Given the description of an element on the screen output the (x, y) to click on. 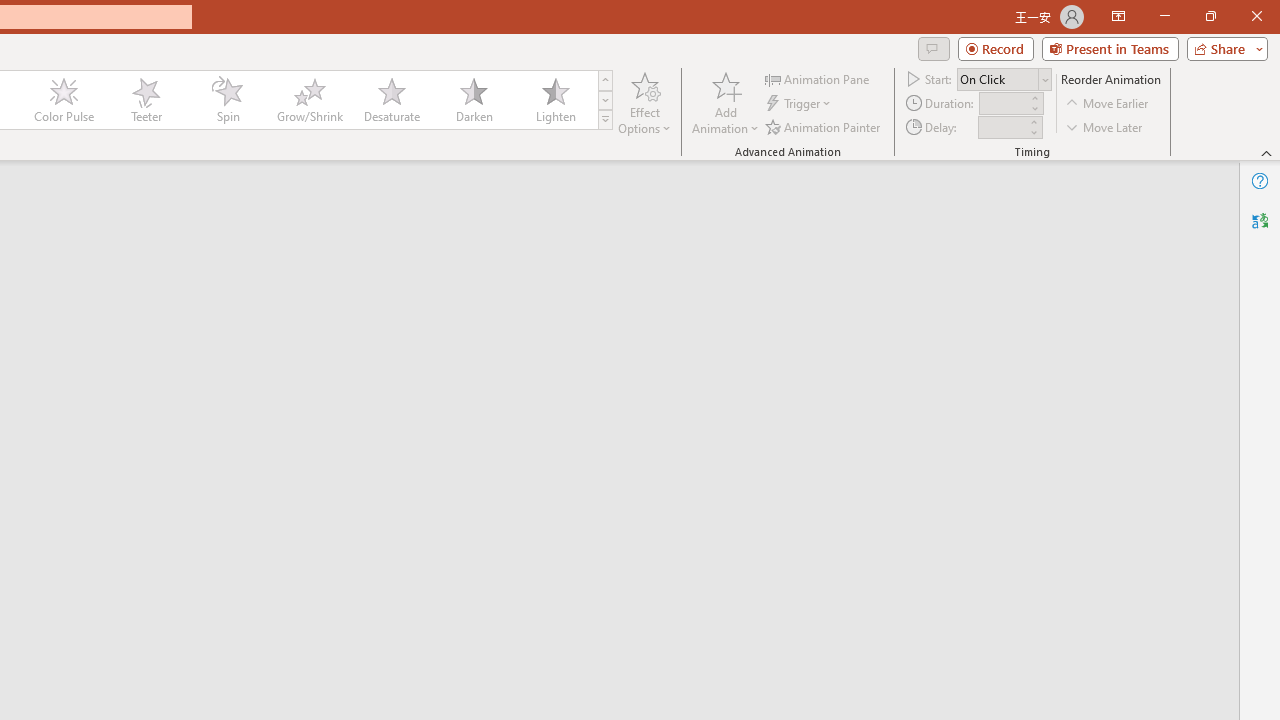
Desaturate (391, 100)
Darken (473, 100)
Animation Duration (1003, 103)
Grow/Shrink (309, 100)
Animation Styles (605, 120)
Spin (227, 100)
Add Animation (725, 102)
Color Pulse (63, 100)
